Given the description of an element on the screen output the (x, y) to click on. 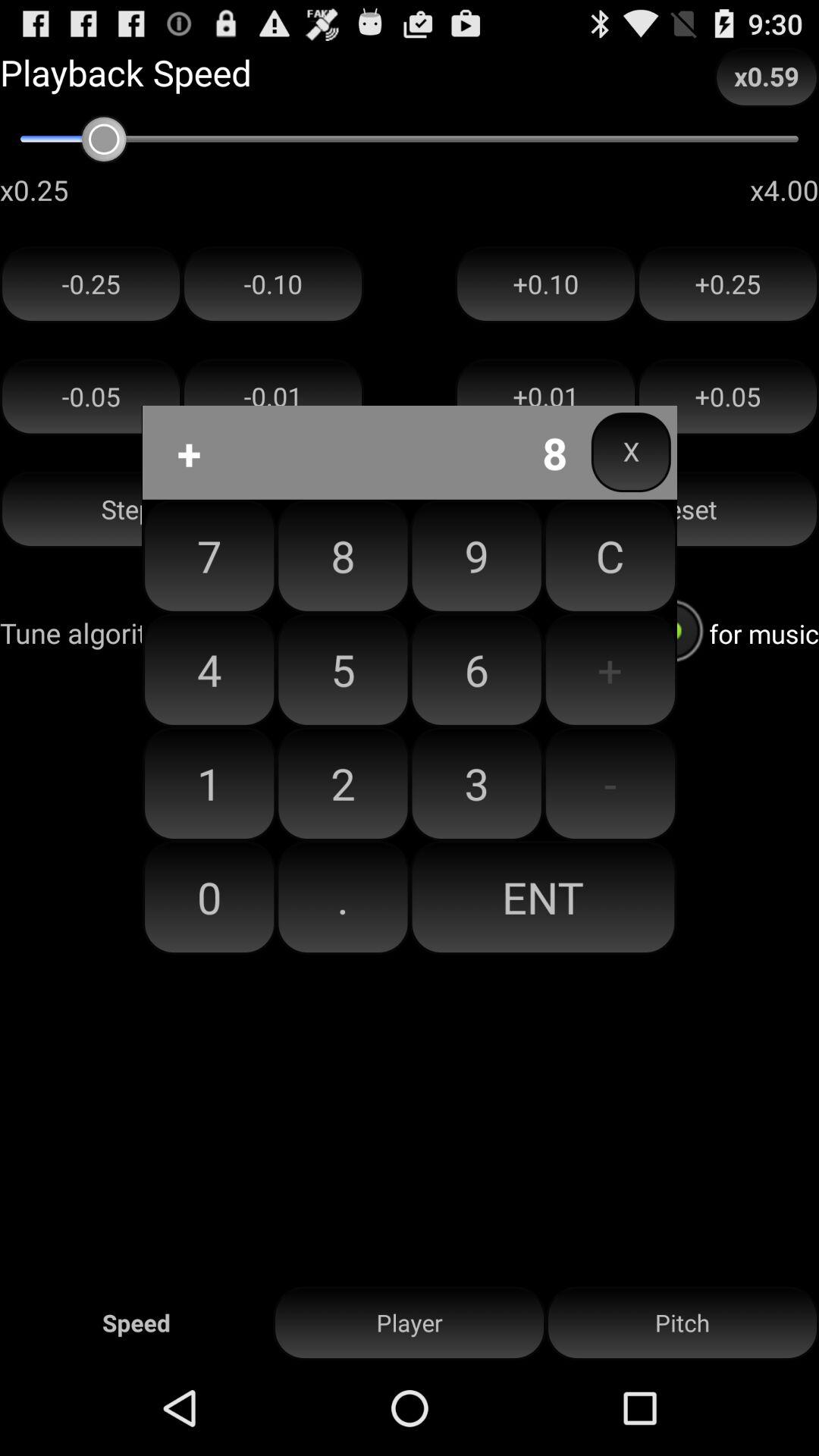
flip until + item (609, 669)
